Given the description of an element on the screen output the (x, y) to click on. 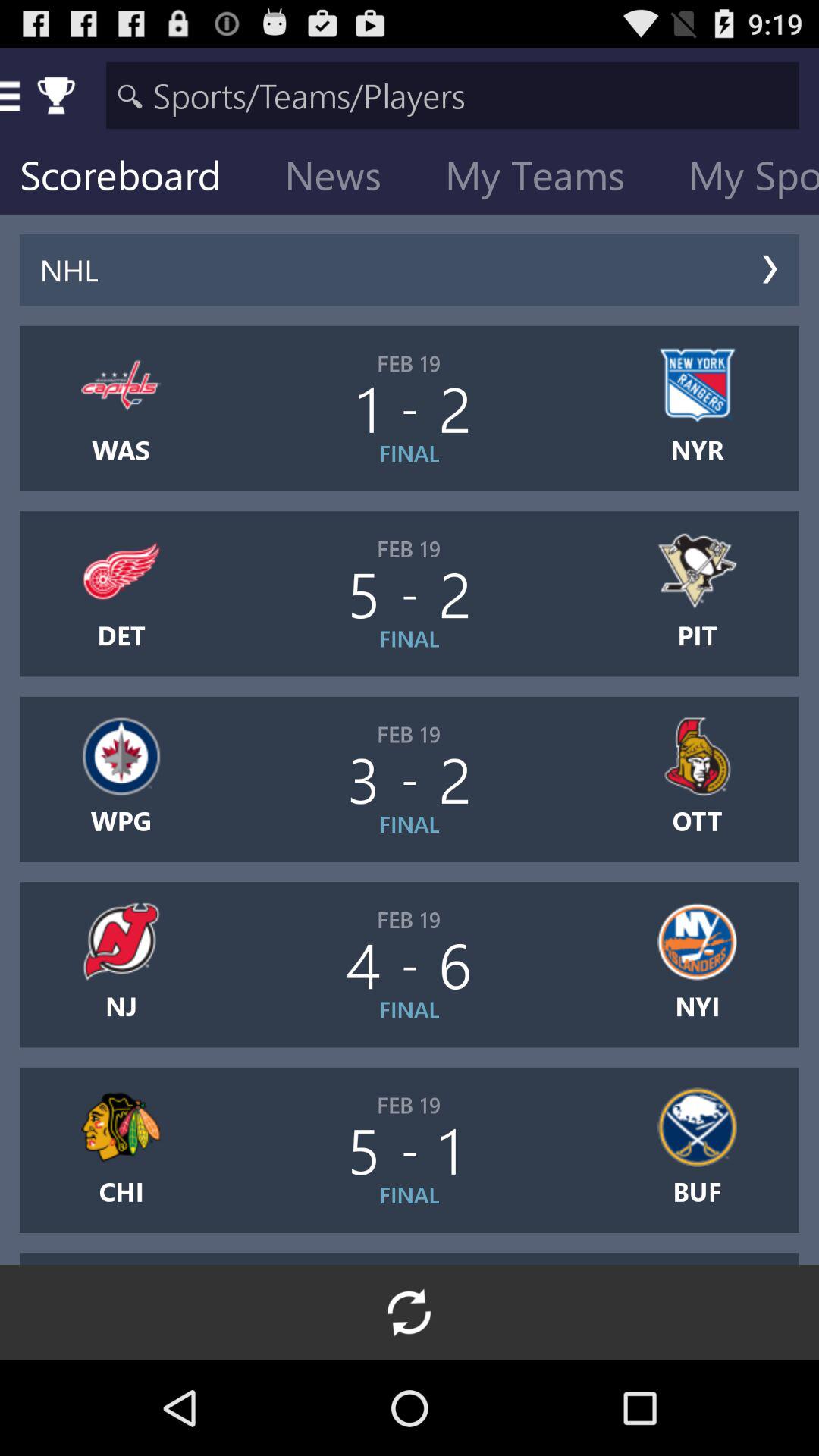
research field (452, 95)
